Given the description of an element on the screen output the (x, y) to click on. 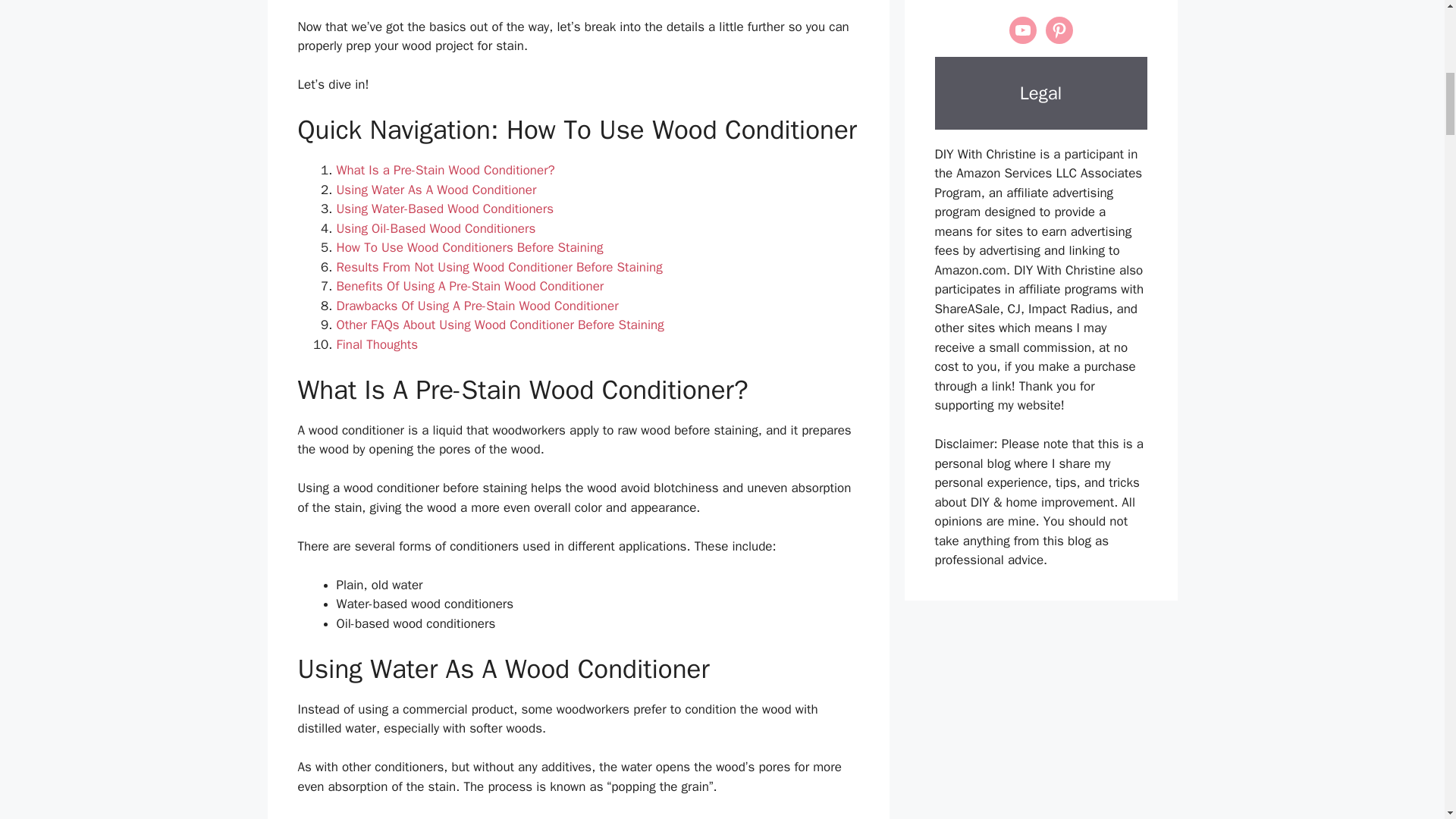
What Is a Pre-Stain Wood Conditioner? (445, 170)
How To Use Wood Conditioners Before Staining (470, 247)
Results From Not Using Wood Conditioner Before Staining (499, 267)
Other FAQs About Using Wood Conditioner Before Staining (499, 324)
Using Oil-Based Wood Conditioners (435, 228)
Final Thoughts (377, 344)
Using Water As A Wood Conditioner (436, 189)
Benefits Of Using A Pre-Stain Wood Conditioner (470, 286)
Using Water-Based Wood Conditioners (445, 208)
Drawbacks Of Using A Pre-Stain Wood Conditioner (477, 305)
Scroll back to top (1406, 720)
